Given the description of an element on the screen output the (x, y) to click on. 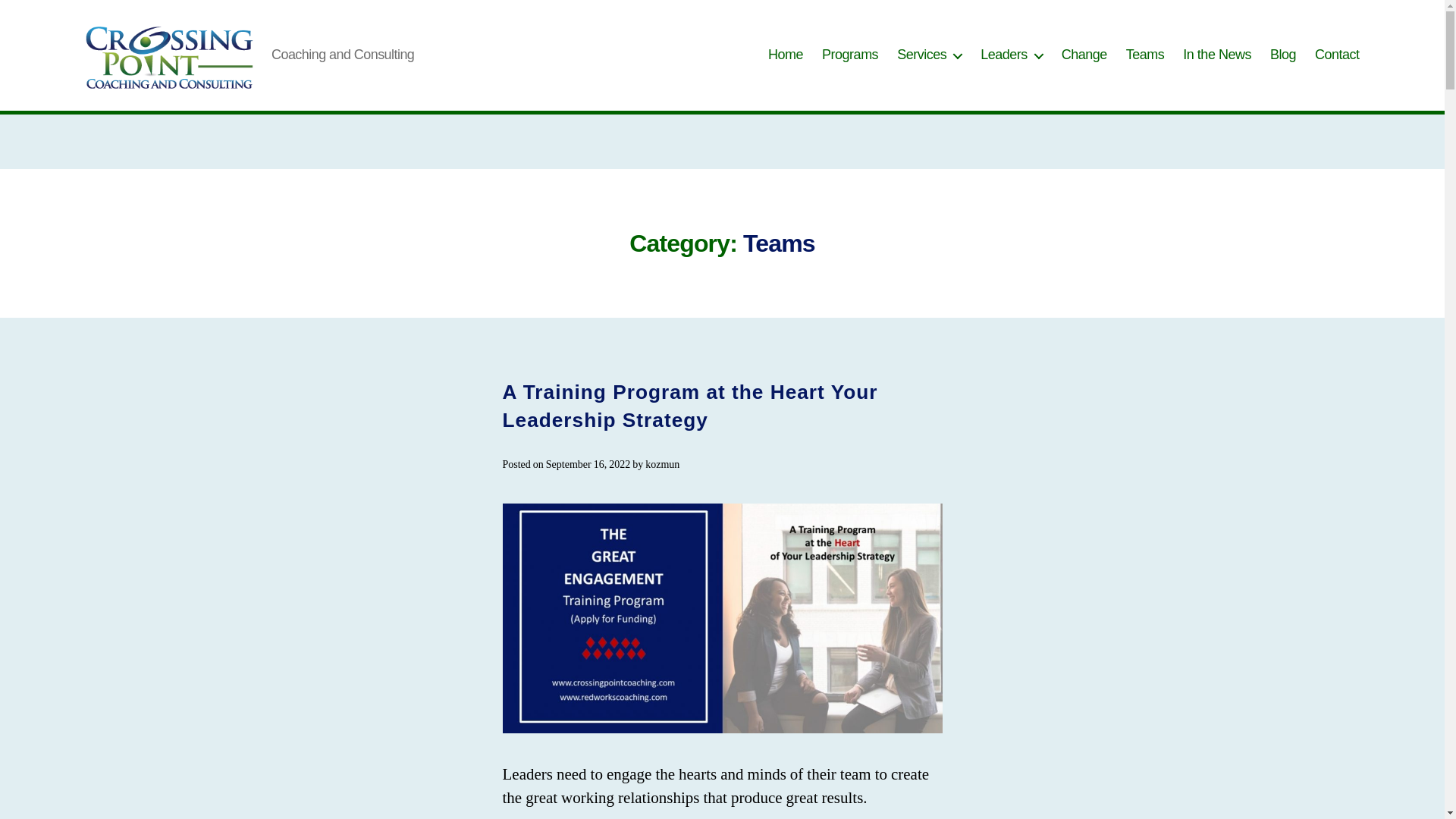
Teams (1144, 54)
Change (1083, 54)
Leaders (1010, 54)
In the News (1216, 54)
Blog (1282, 54)
Home (785, 54)
Services (928, 54)
Contact (1336, 54)
Programs (849, 54)
